Given the description of an element on the screen output the (x, y) to click on. 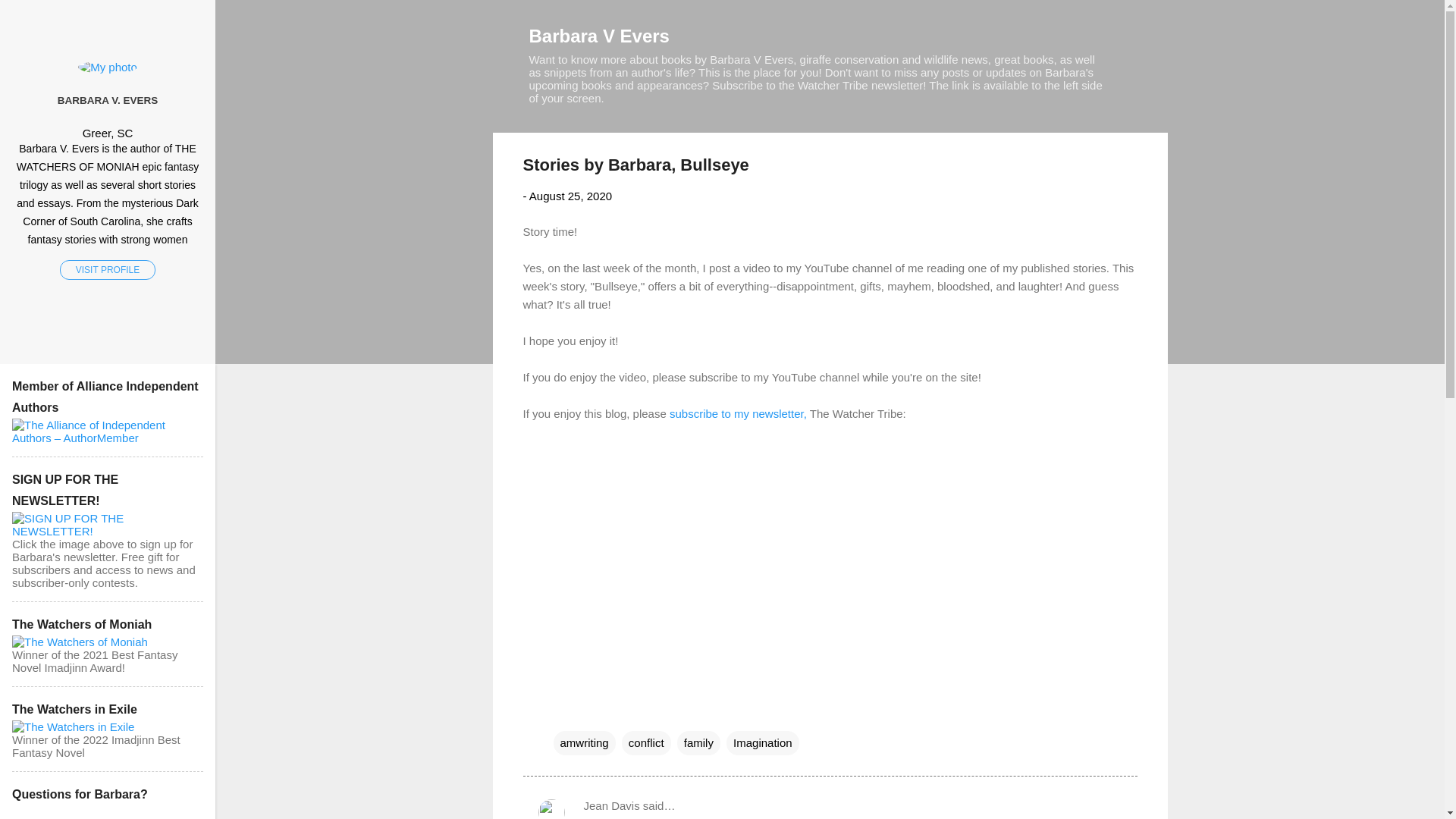
Search (29, 18)
August 25, 2020 (570, 195)
Imagination (762, 743)
amwriting (584, 743)
family (698, 743)
Barbara V Evers (599, 35)
permanent link (570, 195)
subscribe to my newsletter, (737, 412)
Email Post (562, 711)
conflict (646, 743)
